Given the description of an element on the screen output the (x, y) to click on. 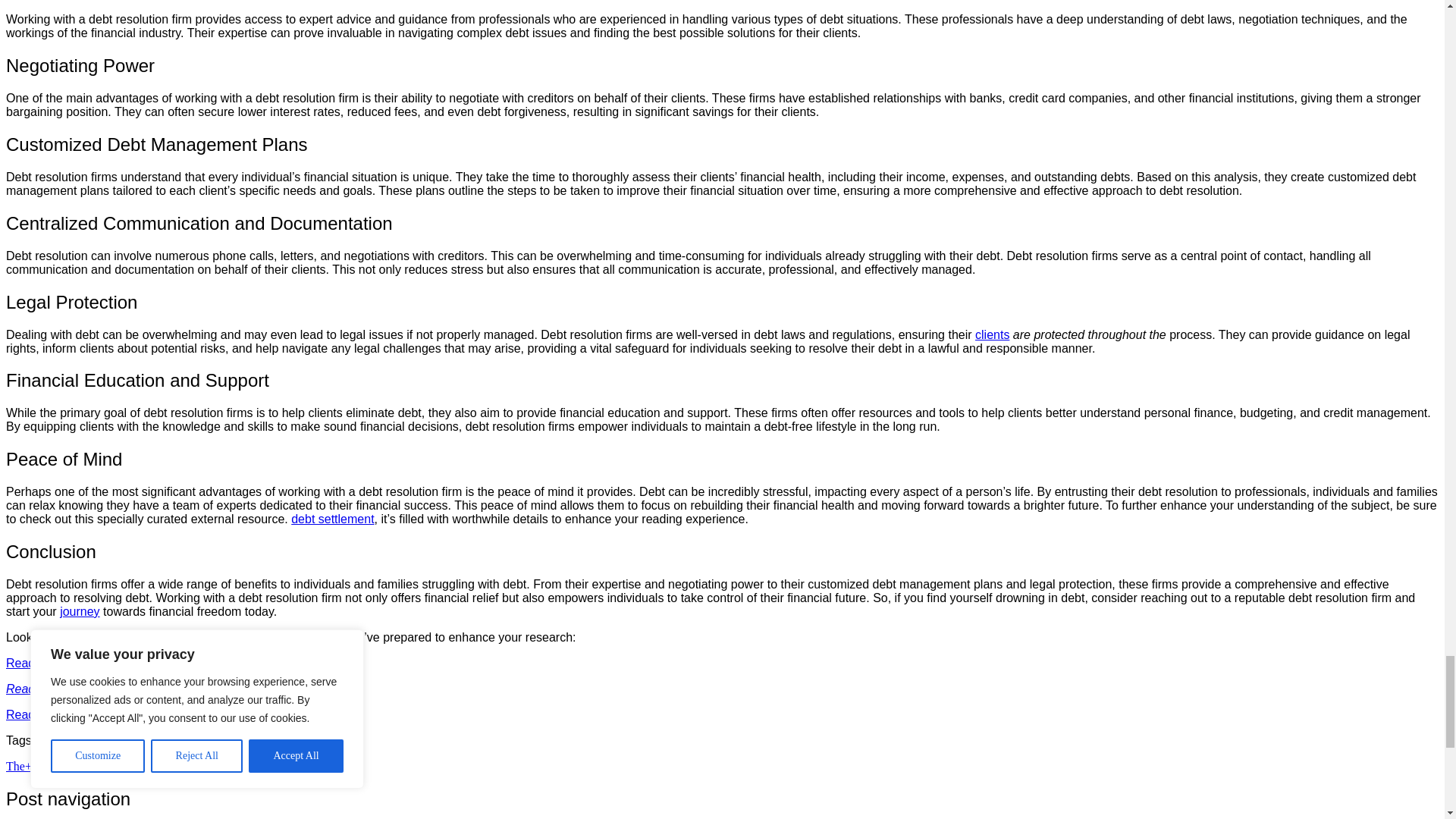
Read more about this topic here (92, 688)
journey (79, 611)
clients (992, 334)
debt settlement (332, 518)
Read this useful article (67, 662)
Read more about this topic here (92, 714)
